Given the description of an element on the screen output the (x, y) to click on. 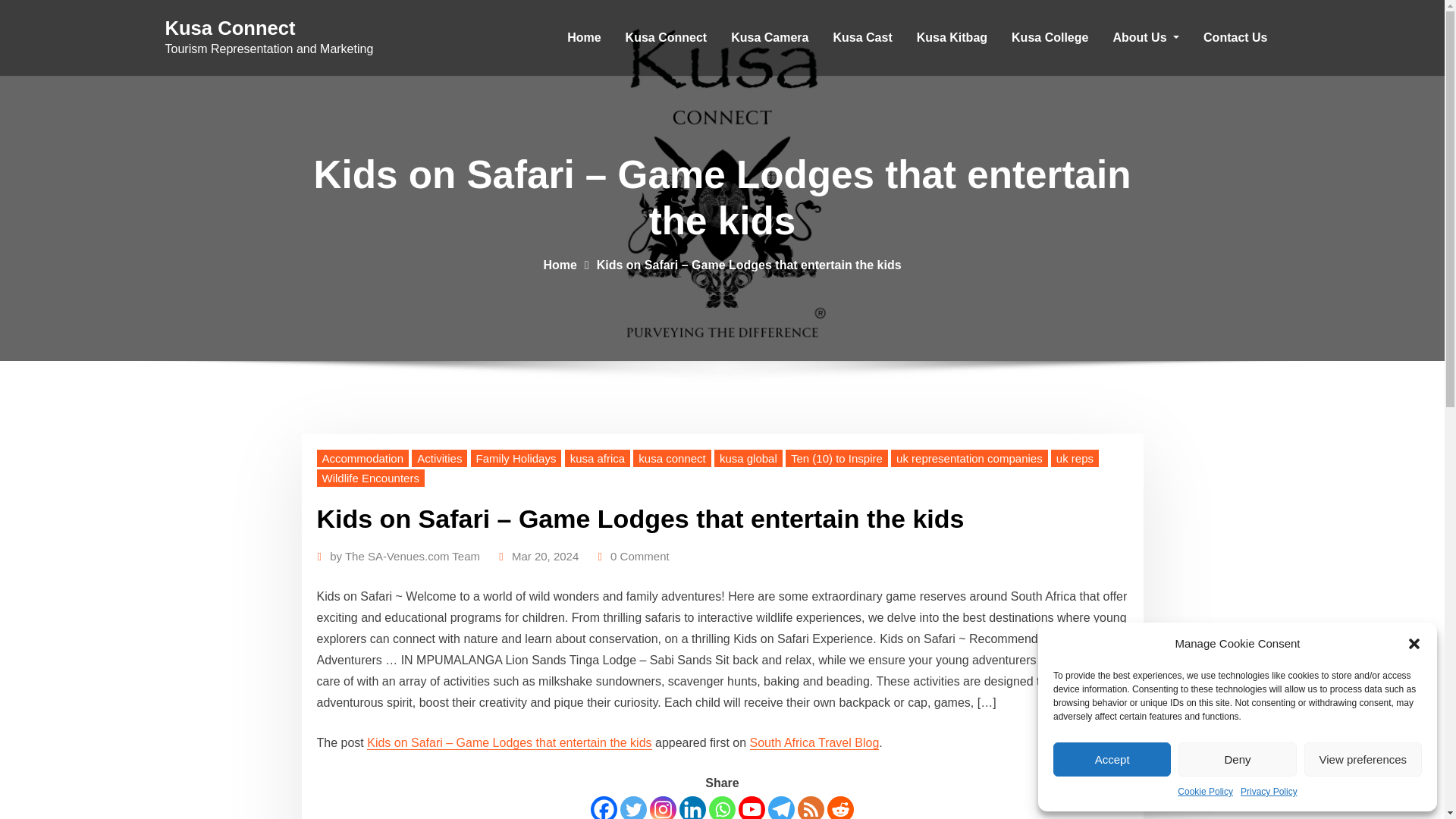
About Us (1145, 38)
Linkedin (692, 807)
Kusa Connect (665, 38)
Family Holidays (516, 457)
kusa connect (671, 457)
Cookie Policy (1205, 791)
Kusa Camera (770, 38)
Facebook (604, 807)
Kusa College (1049, 38)
Accept (1111, 759)
Youtube (751, 807)
Wildlife Encounters (371, 477)
kusa global (748, 457)
Activities (439, 457)
RSS Feed (810, 807)
